Given the description of an element on the screen output the (x, y) to click on. 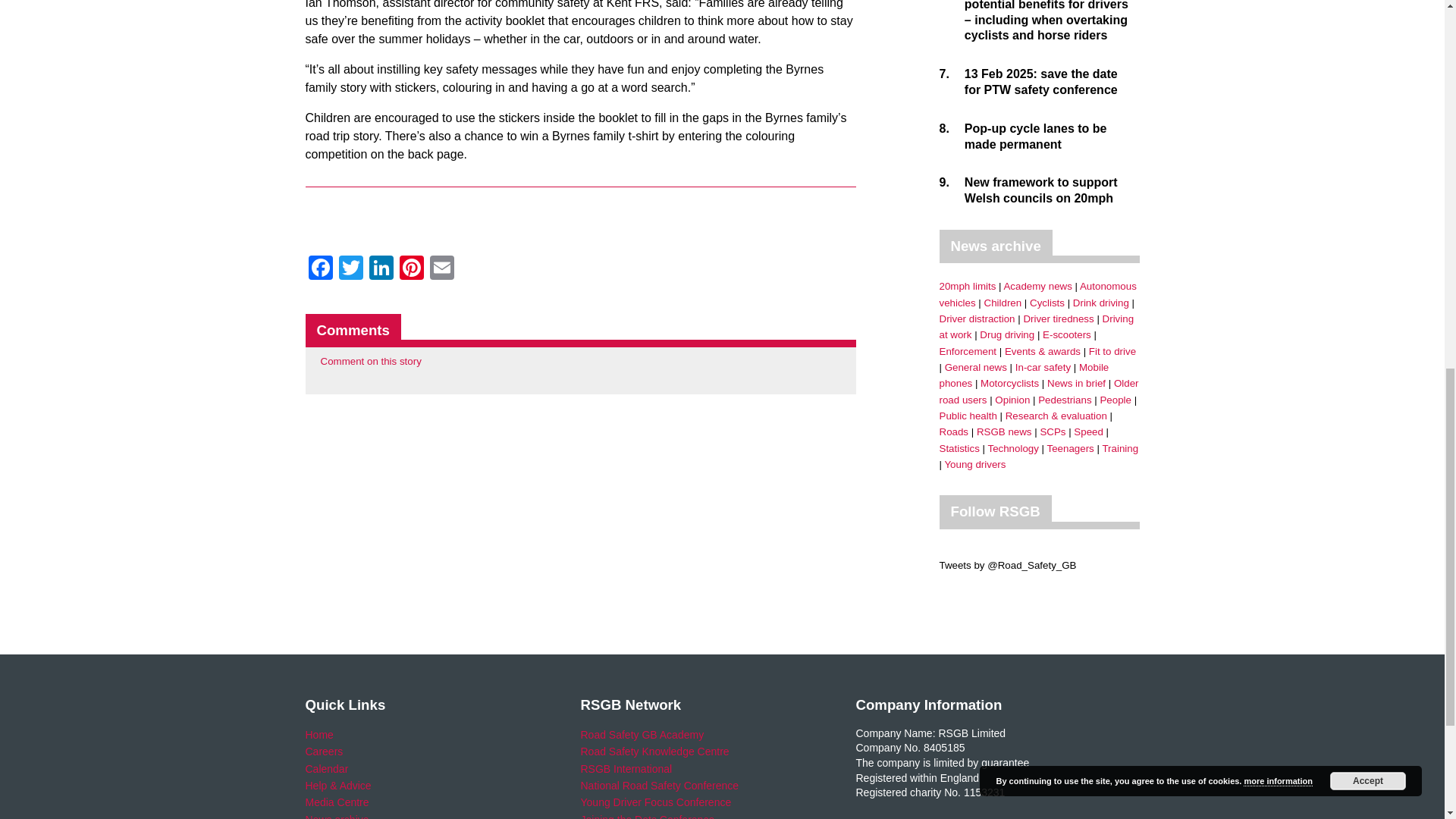
Pinterest (411, 269)
Twitter (349, 269)
Facebook (319, 269)
LinkedIn (380, 269)
Email (441, 269)
